Given the description of an element on the screen output the (x, y) to click on. 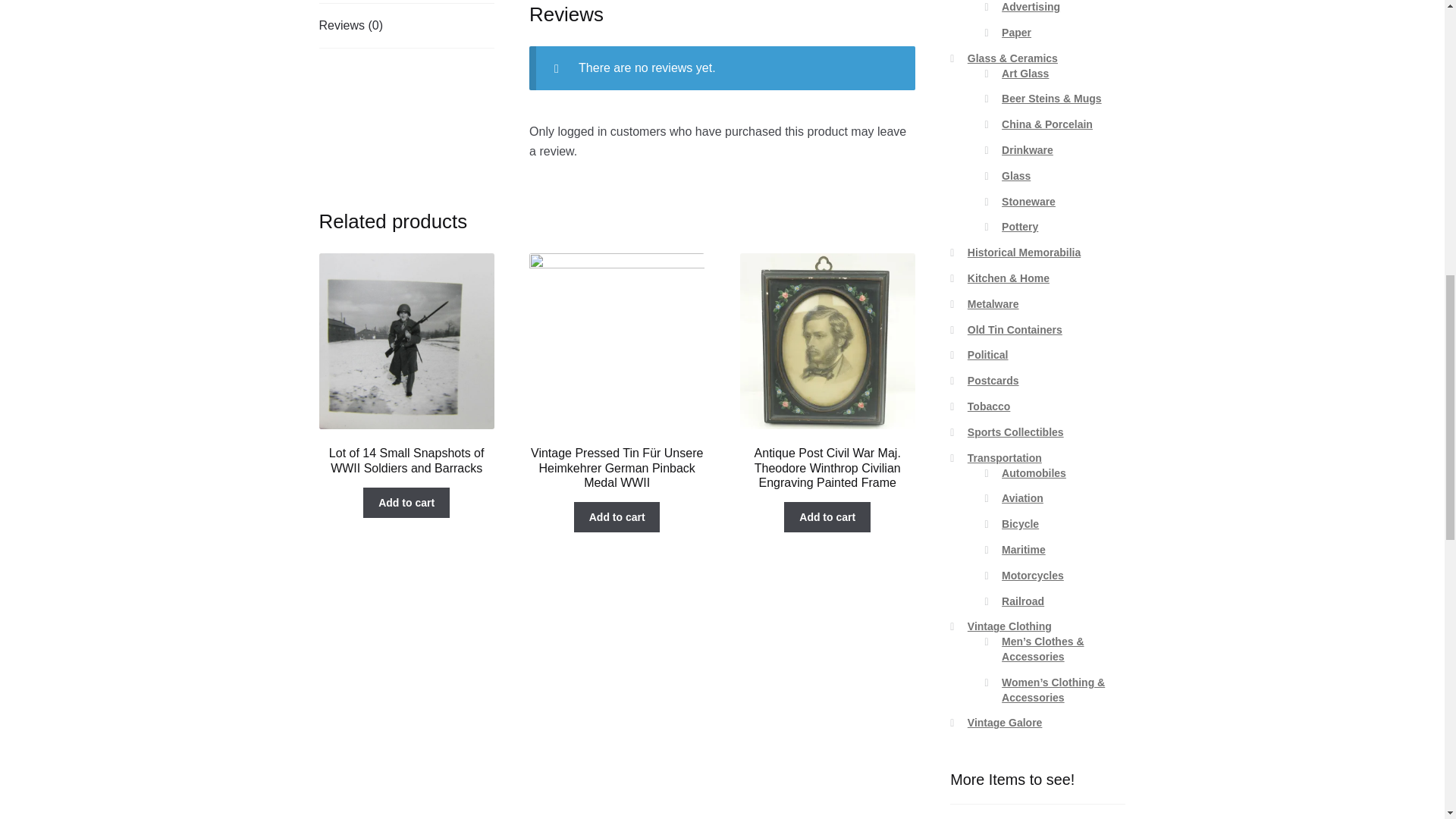
Add to cart (827, 517)
Add to cart (617, 517)
Add to cart (405, 502)
